Given the description of an element on the screen output the (x, y) to click on. 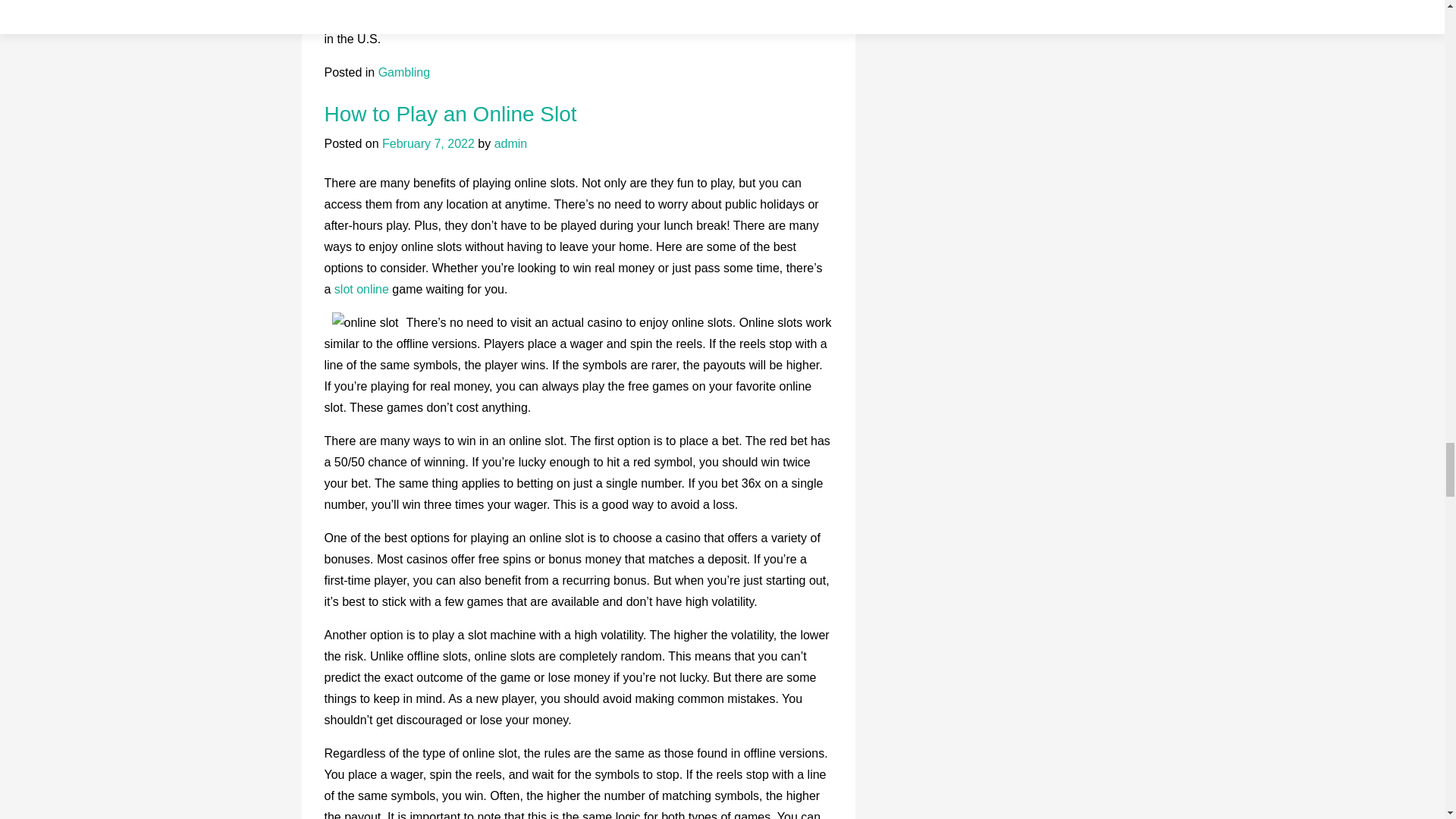
February 7, 2022 (427, 143)
slot online (363, 288)
Gambling (403, 72)
How to Play an Online Slot (450, 114)
admin (511, 143)
